Given the description of an element on the screen output the (x, y) to click on. 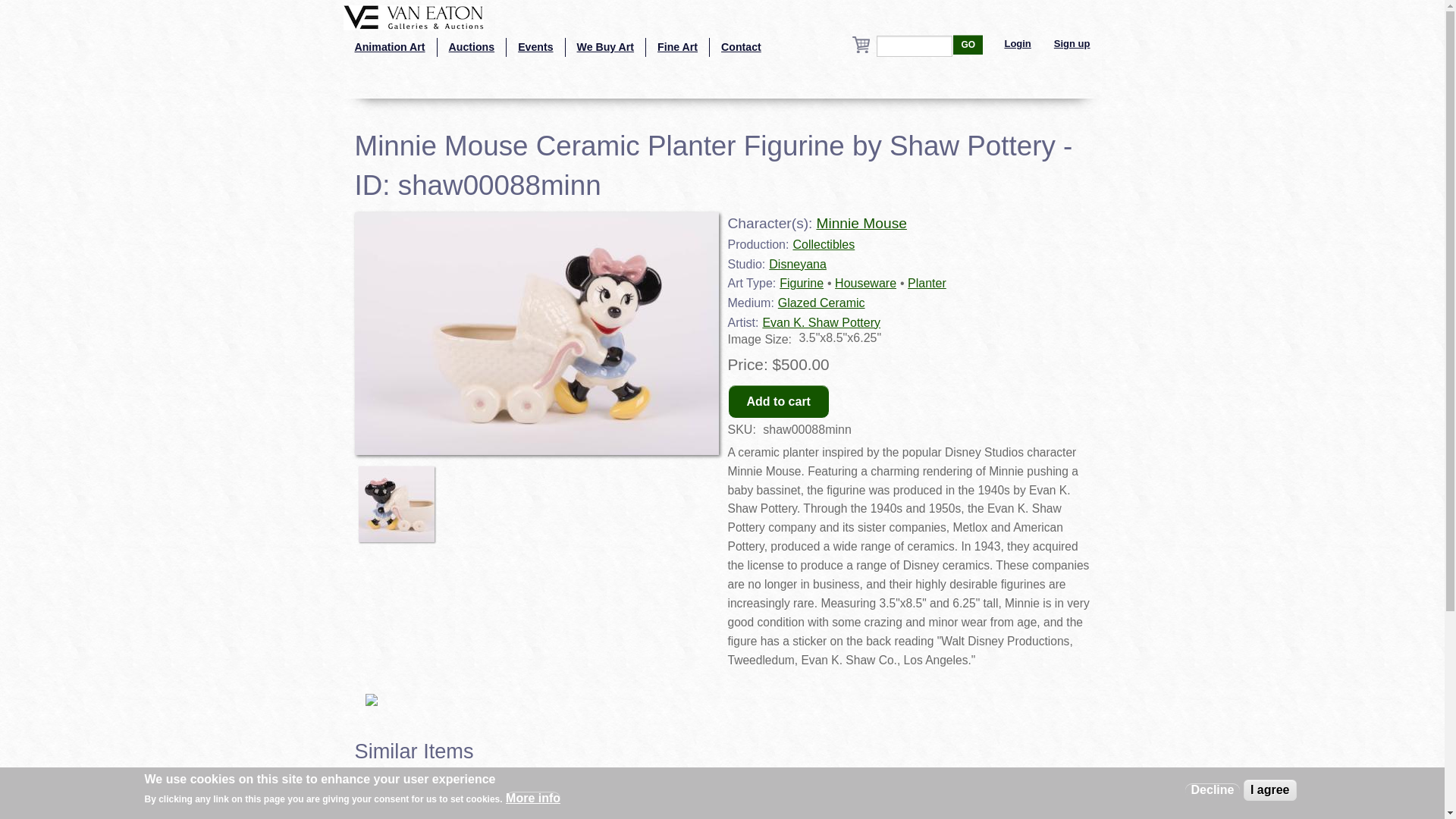
Auctions (472, 46)
Planter (926, 282)
Houseware (865, 282)
Login (1017, 43)
Home (412, 15)
GO (968, 44)
View Art by Studio (388, 46)
Figurine (801, 282)
